Given the description of an element on the screen output the (x, y) to click on. 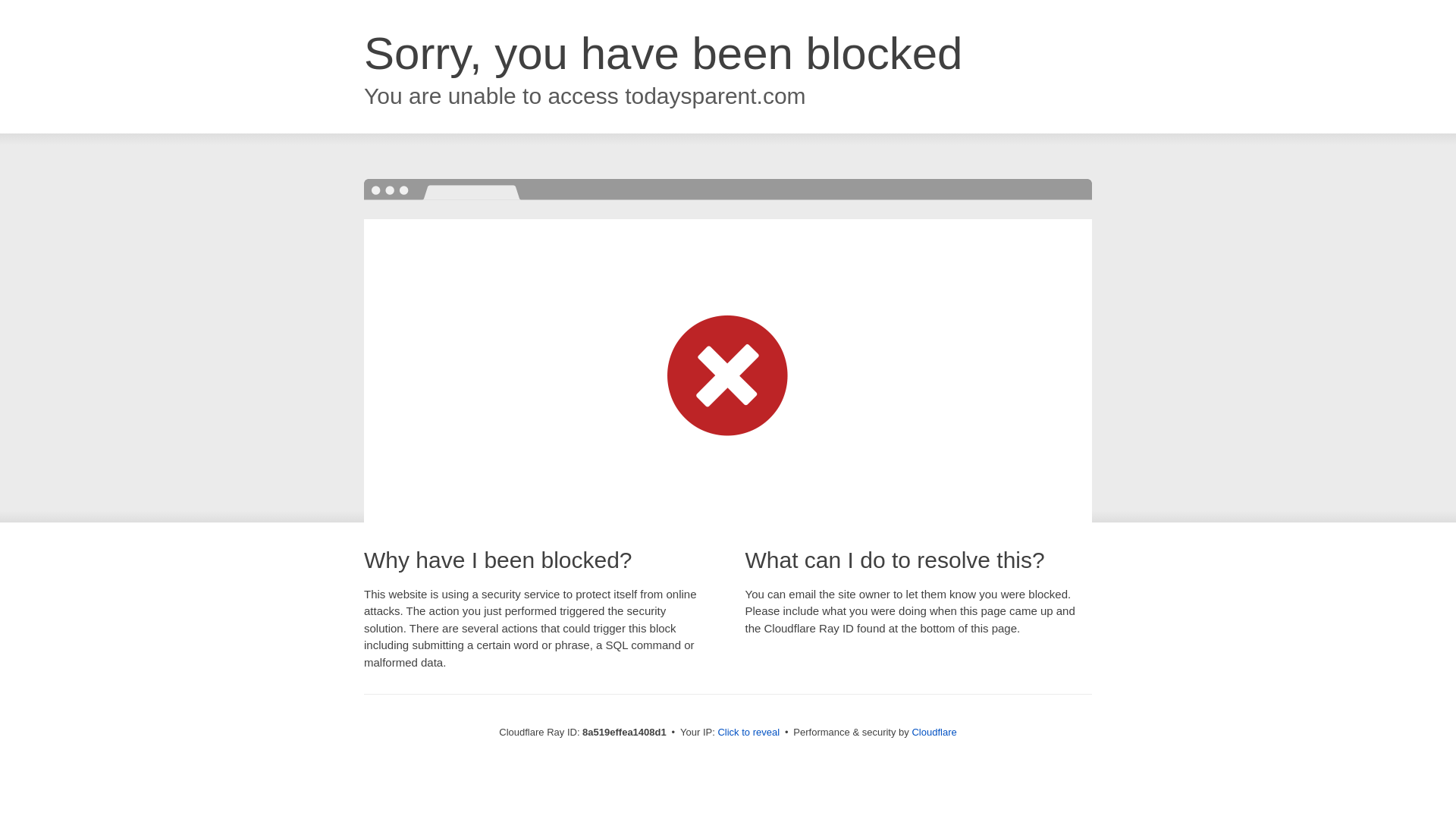
Cloudflare (933, 731)
Click to reveal (747, 732)
